Given the description of an element on the screen output the (x, y) to click on. 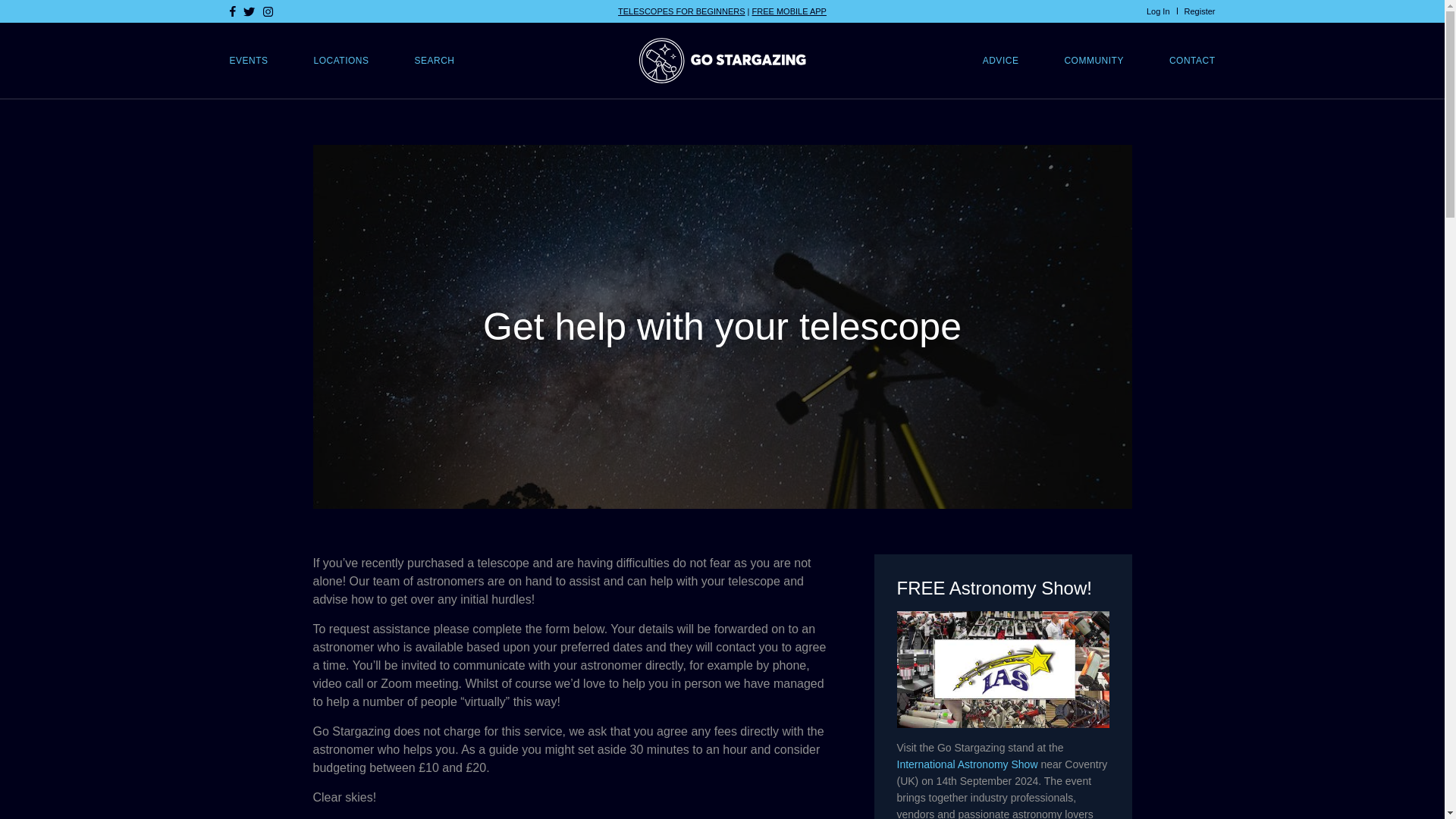
Register (1200, 10)
Twitter (248, 10)
TELESCOPES FOR BEGINNERS (680, 11)
Log In (1158, 10)
Instagram (267, 10)
FREE MOBILE APP (789, 11)
